Given the description of an element on the screen output the (x, y) to click on. 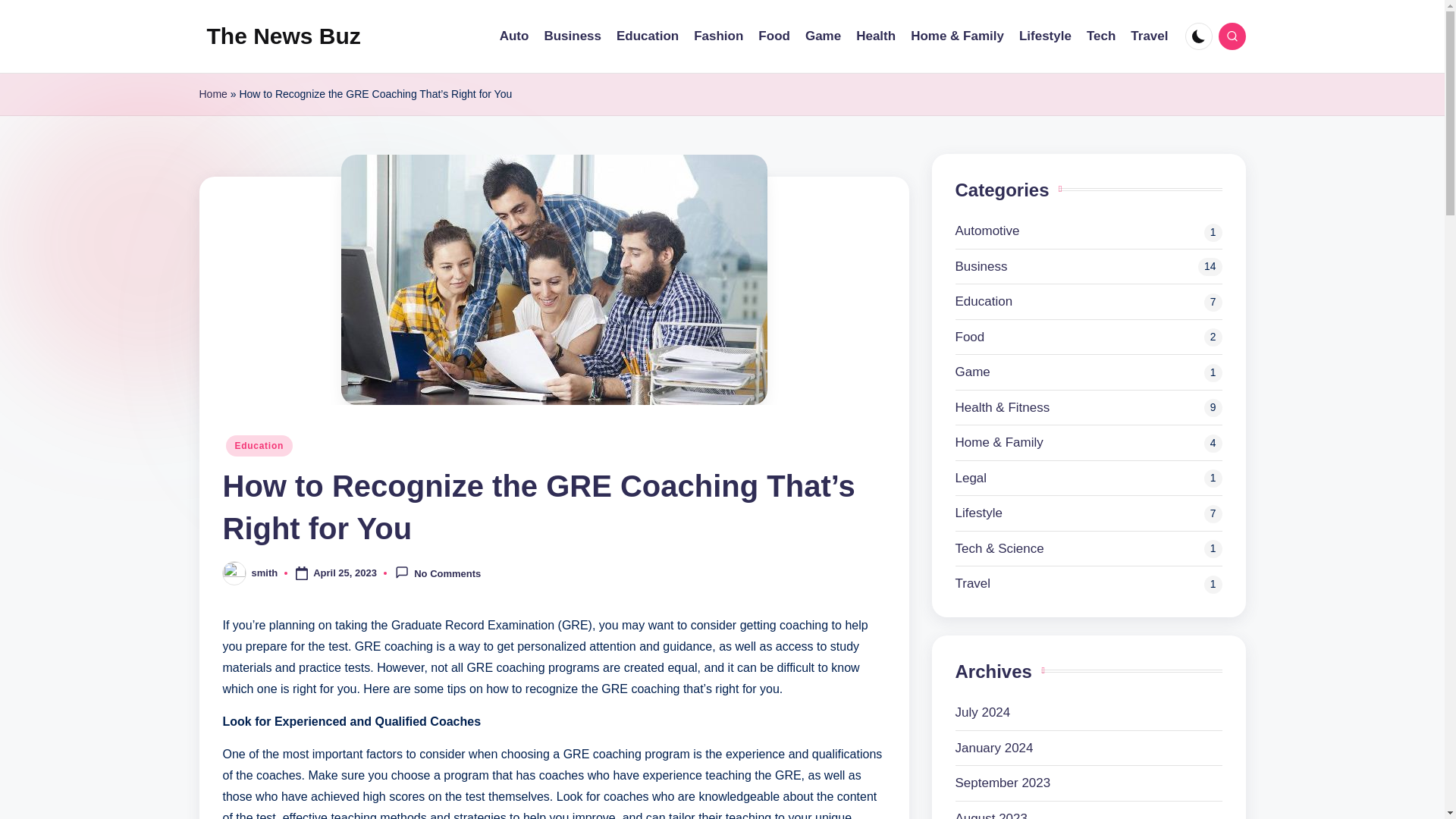
Food (1089, 337)
Travel (1149, 36)
Education (646, 36)
Home (212, 94)
Education (258, 445)
Food (774, 36)
Business (572, 36)
The News Buz (282, 36)
No Comments (437, 572)
Auto (514, 36)
